Given the description of an element on the screen output the (x, y) to click on. 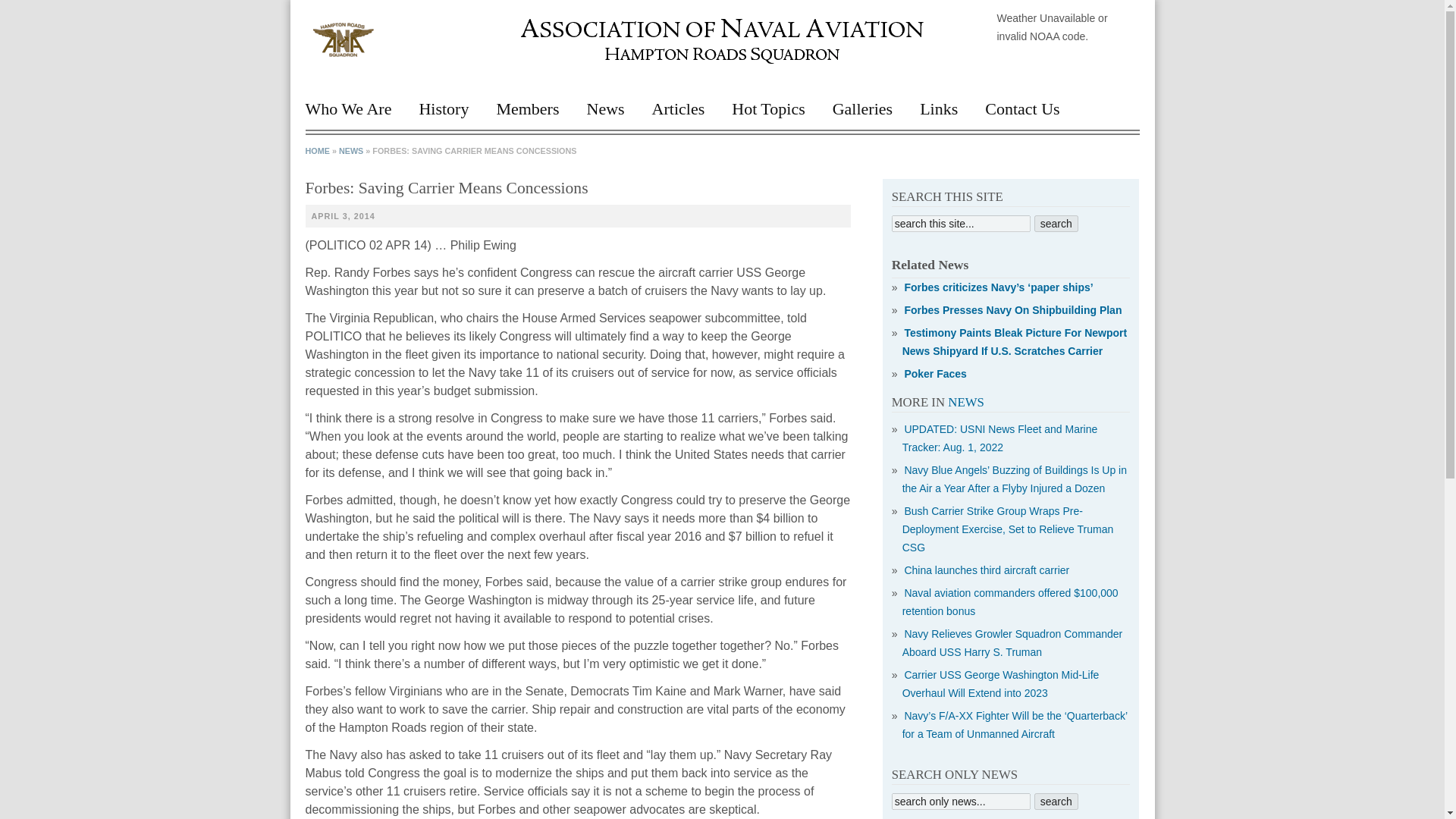
search only news... (960, 801)
search this site... (960, 223)
search this site... (960, 223)
Who We Are (354, 114)
search (1055, 801)
UPDATED: USNI News Fleet and Marine Tracker: Aug. 1, 2022 (998, 438)
search only news... (960, 801)
